Given the description of an element on the screen output the (x, y) to click on. 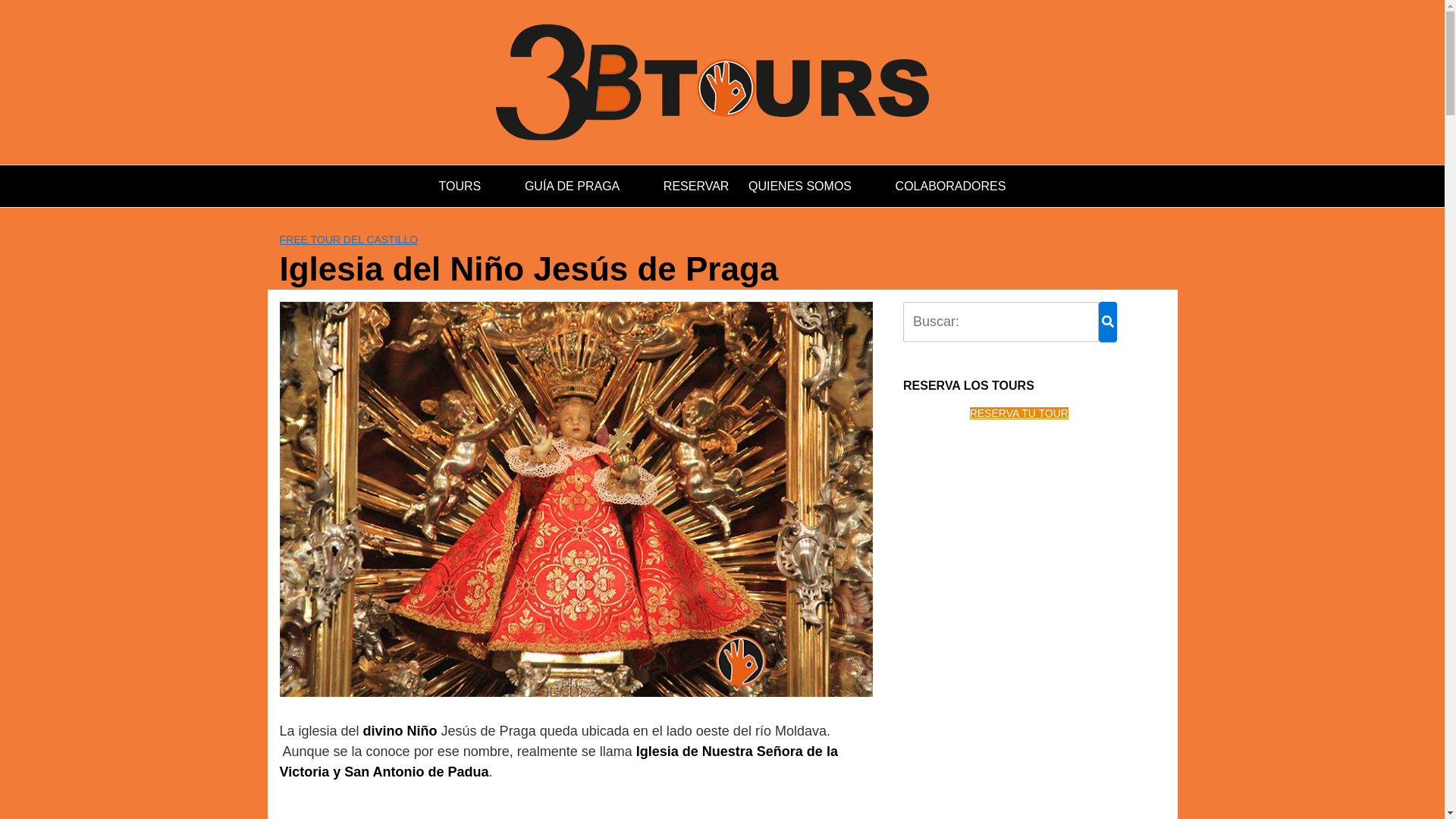
FREE TOUR DEL CASTILLO Element type: text (348, 239)
TOURS Element type: text (472, 186)
QUIENES SOMOS Element type: text (811, 186)
Buscar: Element type: hover (1000, 321)
COLABORADORES Element type: text (950, 186)
RESERVAR Element type: text (696, 186)
RESERVA TU TOUR Element type: text (1018, 413)
